Given the description of an element on the screen output the (x, y) to click on. 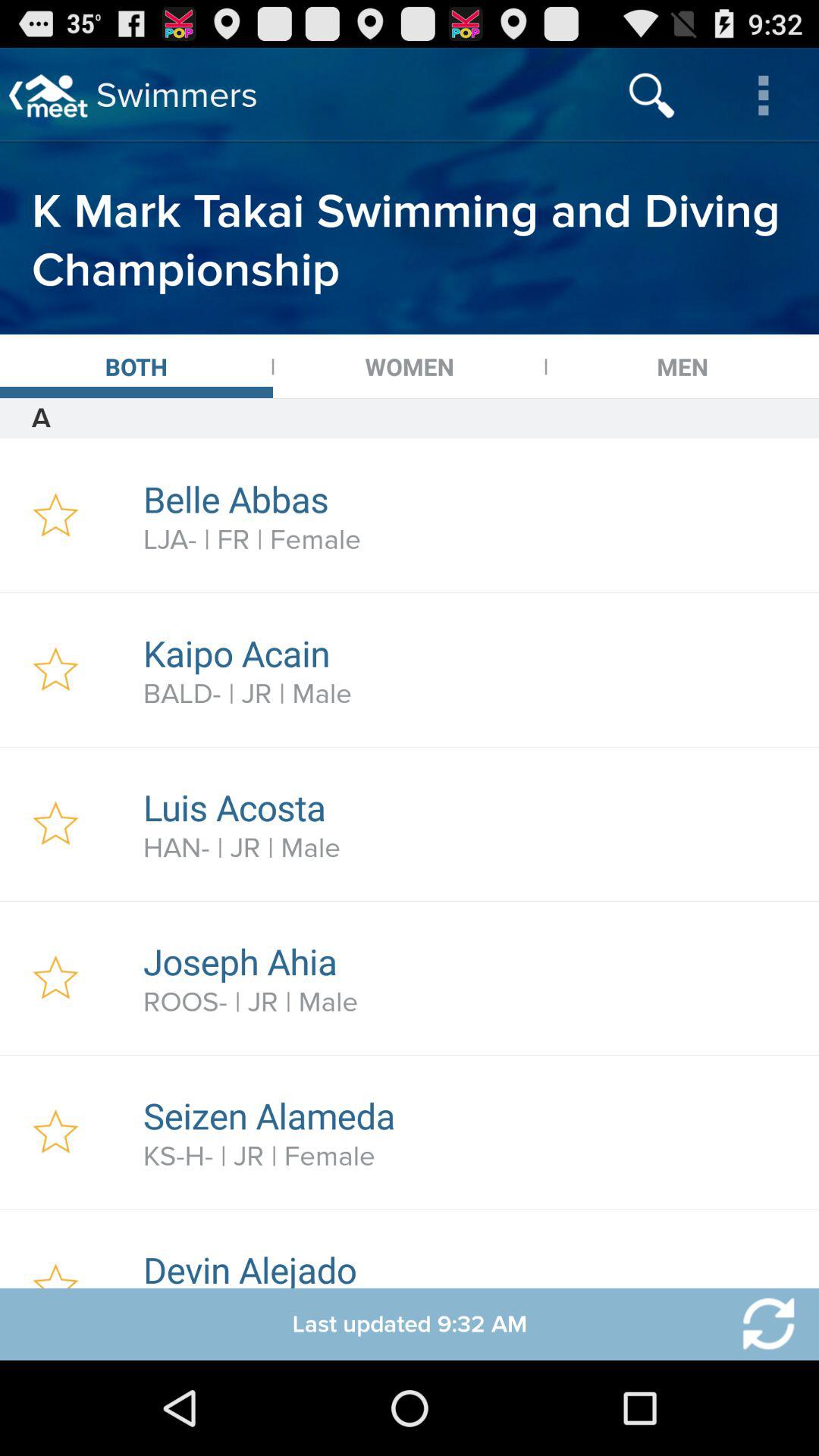
add person to favorites (55, 1248)
